Given the description of an element on the screen output the (x, y) to click on. 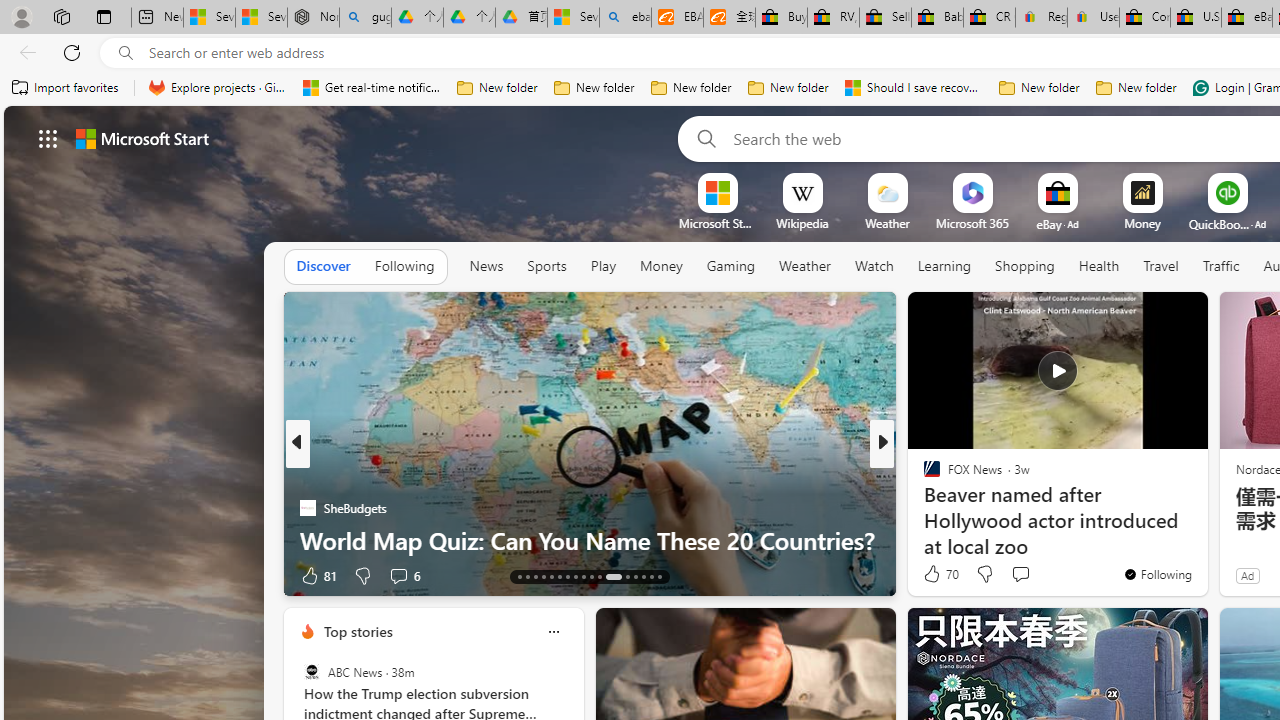
AutomationID: tab-32 (635, 576)
Should I save recovered Word documents? - Microsoft Support (913, 88)
View comments 24 Comment (1019, 575)
Weather (804, 267)
AutomationID: tab-13 (518, 576)
User Privacy Notice | eBay (1092, 17)
AutomationID: tab-14 (527, 576)
Following (404, 265)
You're following FOX News (1157, 573)
Tab actions menu (104, 16)
Microsoft 365 (971, 223)
191 Like (936, 574)
